Given the description of an element on the screen output the (x, y) to click on. 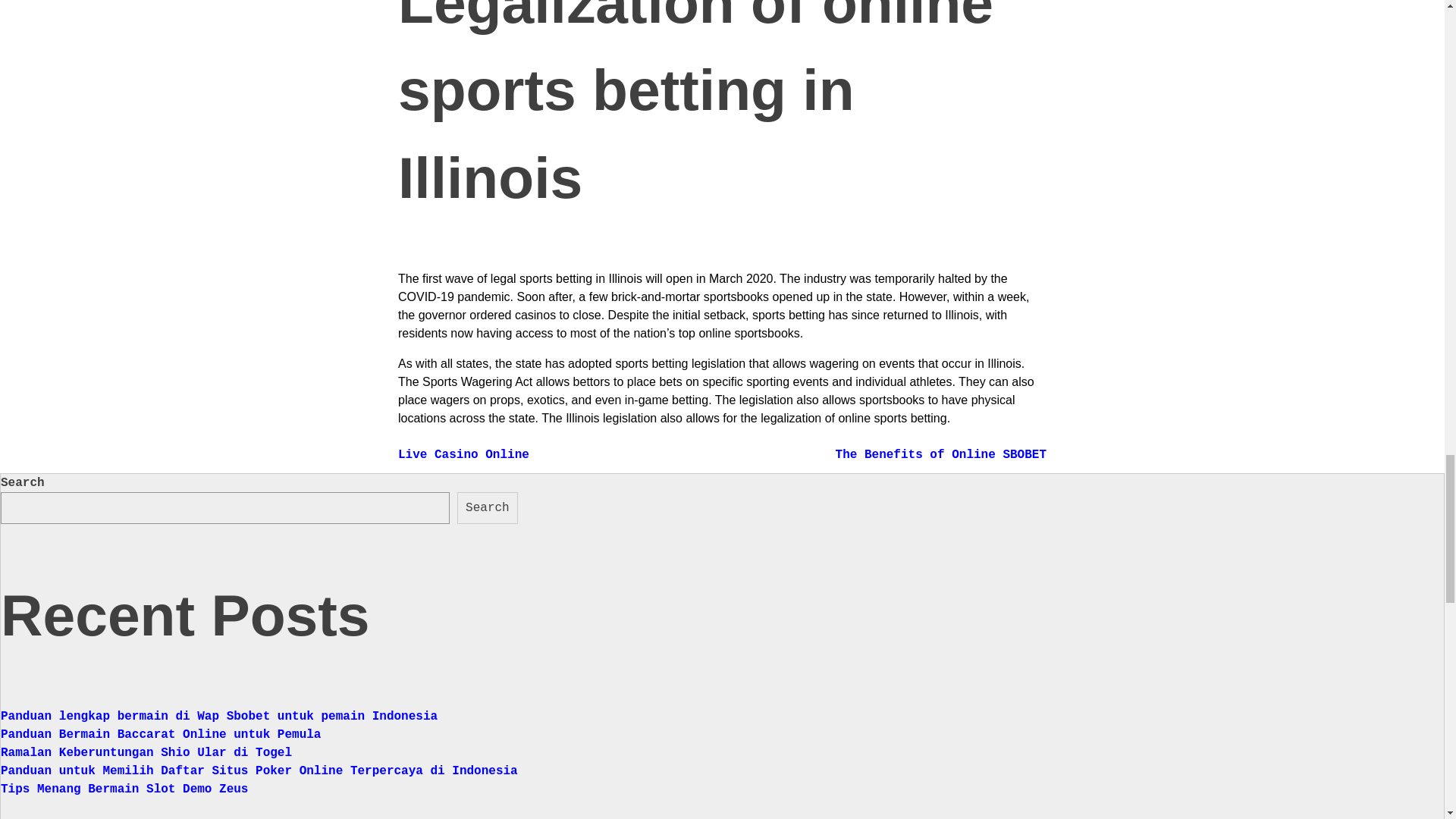
Tips Menang Bermain Slot Demo Zeus (124, 789)
Search (487, 508)
Ramalan Keberuntungan Shio Ular di Togel (146, 753)
Panduan lengkap bermain di Wap Sbobet untuk pemain Indonesia (219, 716)
Panduan Bermain Baccarat Online untuk Pemula (160, 735)
Live Casino Online (463, 454)
The Benefits of Online SBOBET (940, 454)
